Given the description of an element on the screen output the (x, y) to click on. 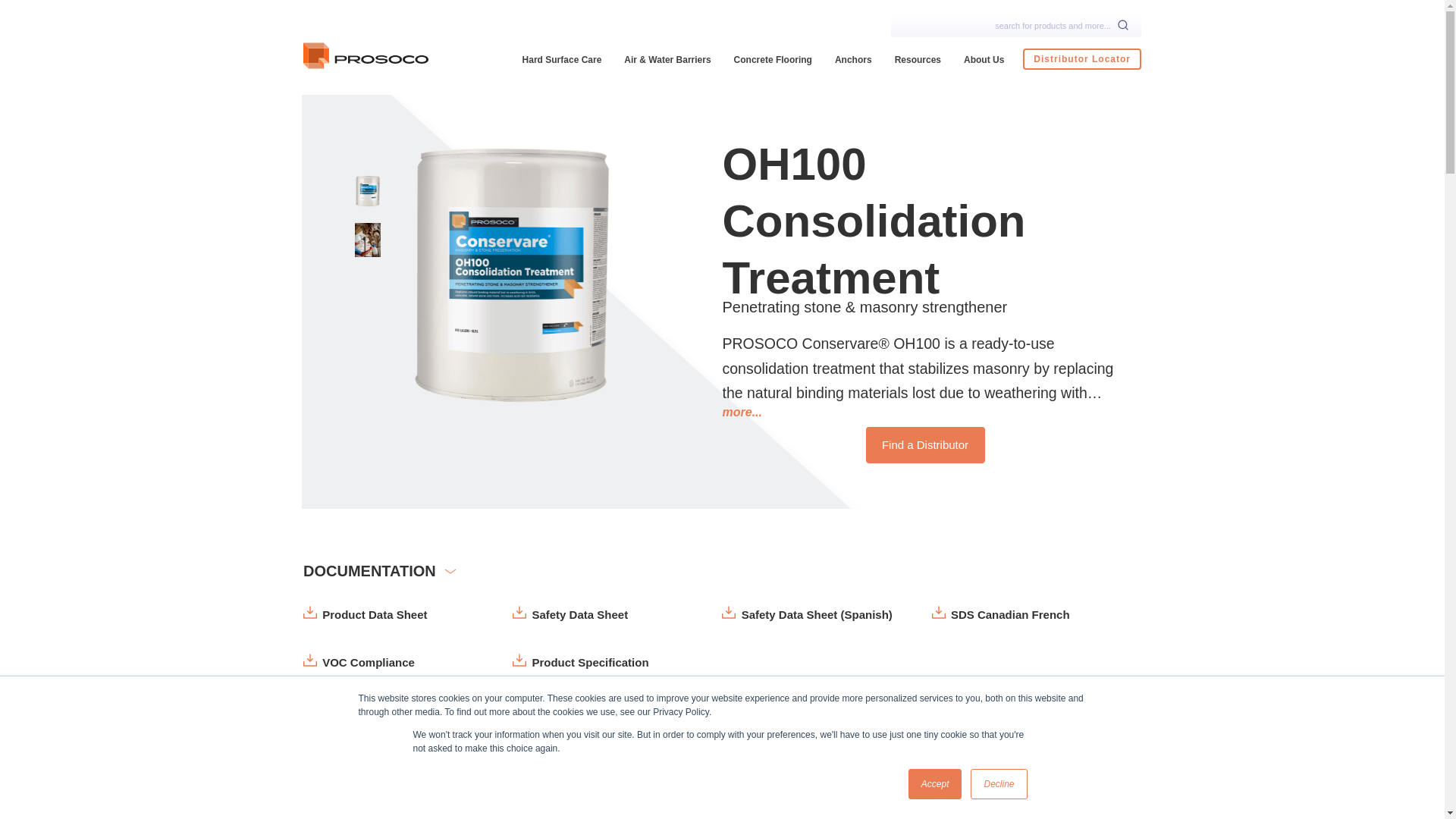
Product Specification (579, 662)
Prosoco, Inc. Logo for Prosoco (365, 56)
Decline (998, 784)
Download Icon (937, 612)
Product Data Sheet (365, 614)
Find a Distributor (925, 444)
Download Icon (309, 612)
Safety Data Sheet (569, 614)
Download Icon (728, 612)
Download Icon (309, 659)
SDS Canadian French (1000, 614)
Accept (935, 784)
Download Icon (518, 612)
Download Icon (518, 659)
Concrete Flooring (772, 59)
